Given the description of an element on the screen output the (x, y) to click on. 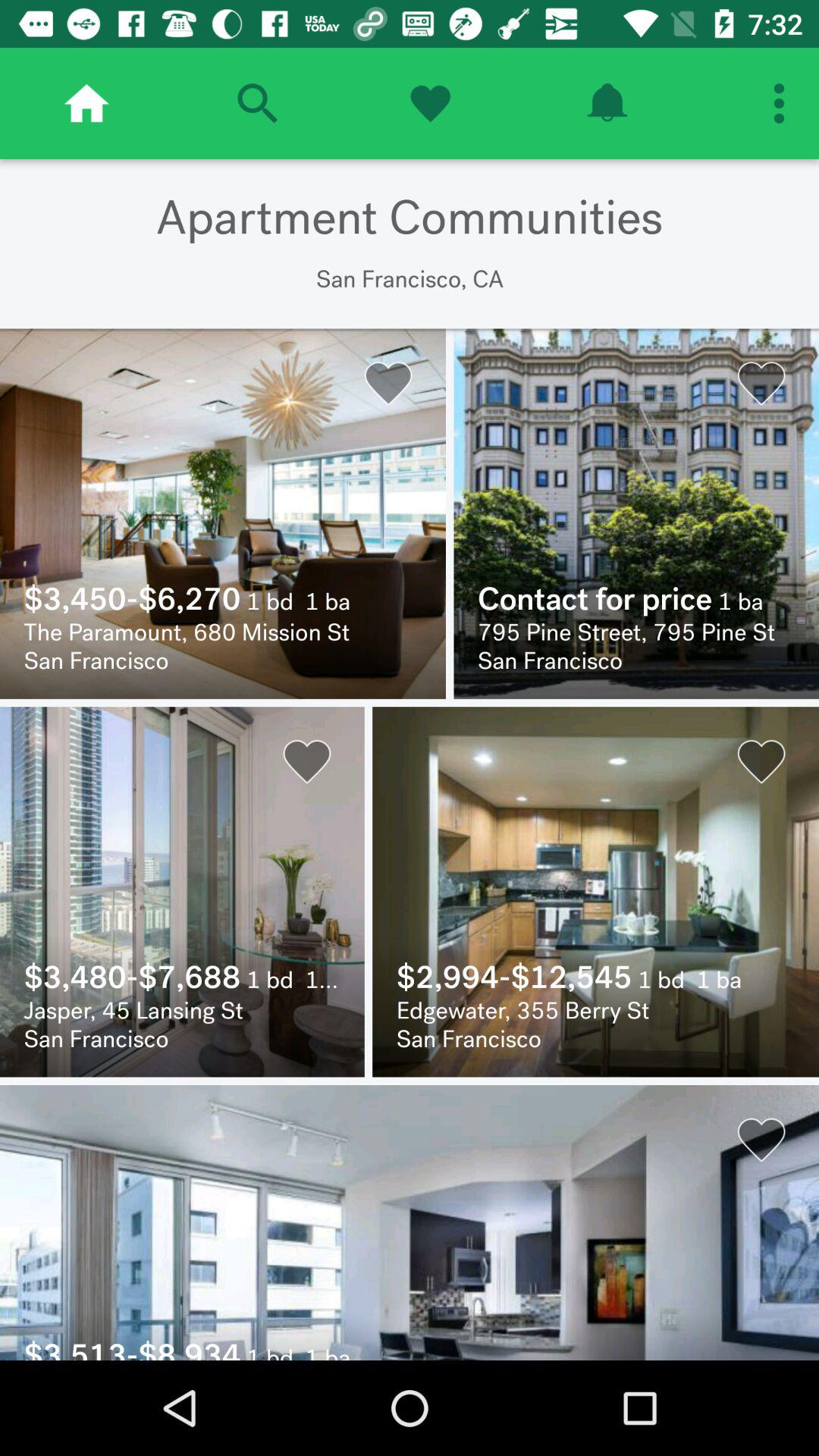
subscribe (606, 103)
